Given the description of an element on the screen output the (x, y) to click on. 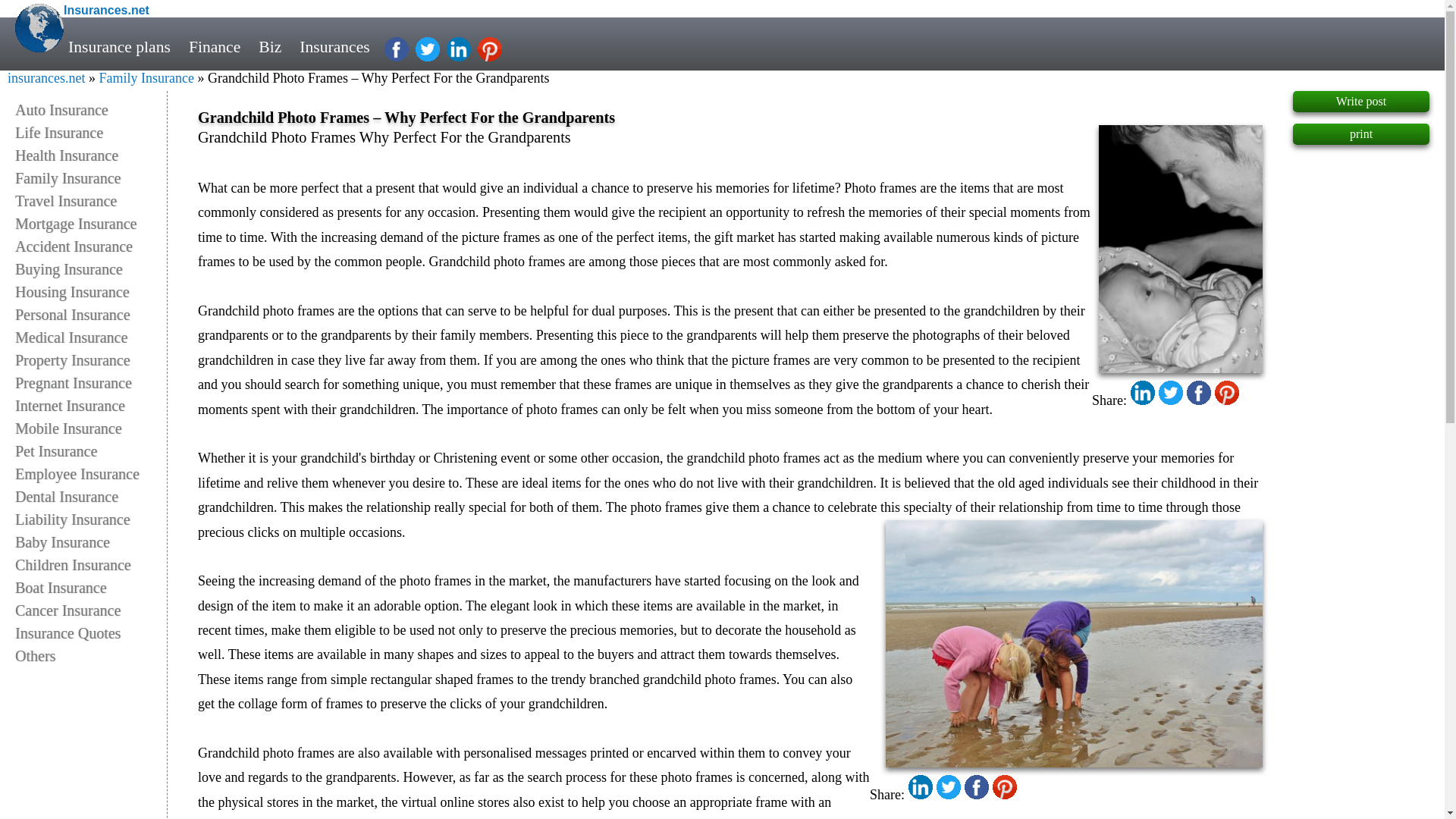
Internet Insurance (90, 404)
Health Insurance (90, 155)
Pet Insurance (90, 450)
Employee Insurance (90, 473)
Baby Insurance (90, 541)
Insurance Quotes (90, 632)
insurances.net (45, 77)
Children Insurance (90, 564)
Family Insurance (146, 77)
Insurances.net (106, 10)
